Given the description of an element on the screen output the (x, y) to click on. 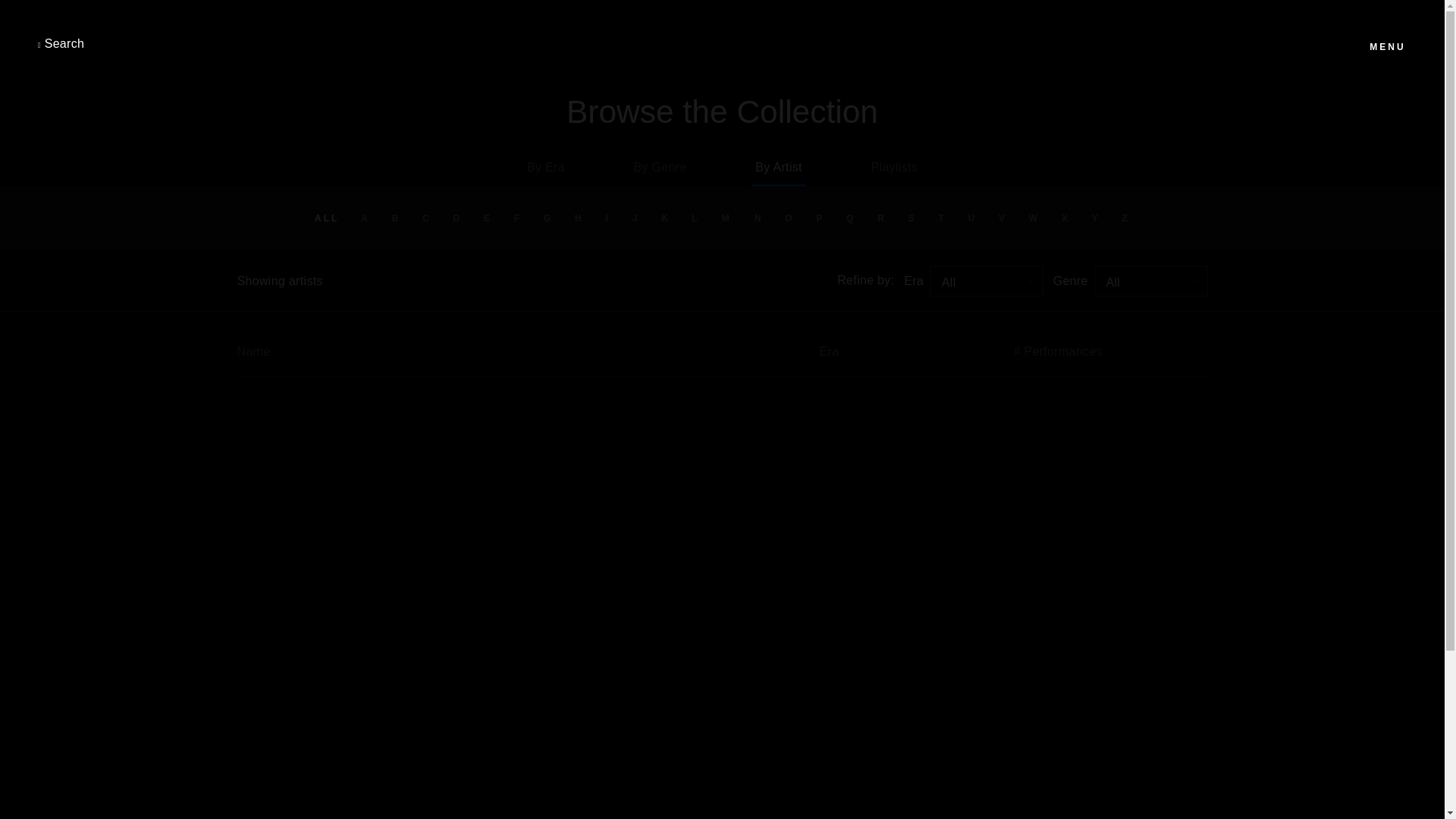
C (426, 218)
A (365, 218)
F (517, 218)
E (488, 218)
J (636, 218)
Q (849, 218)
ALL (326, 218)
H (579, 218)
B (395, 218)
M (726, 218)
R (881, 218)
By Genre (660, 167)
K (664, 218)
P (820, 218)
MENU (1388, 45)
